Given the description of an element on the screen output the (x, y) to click on. 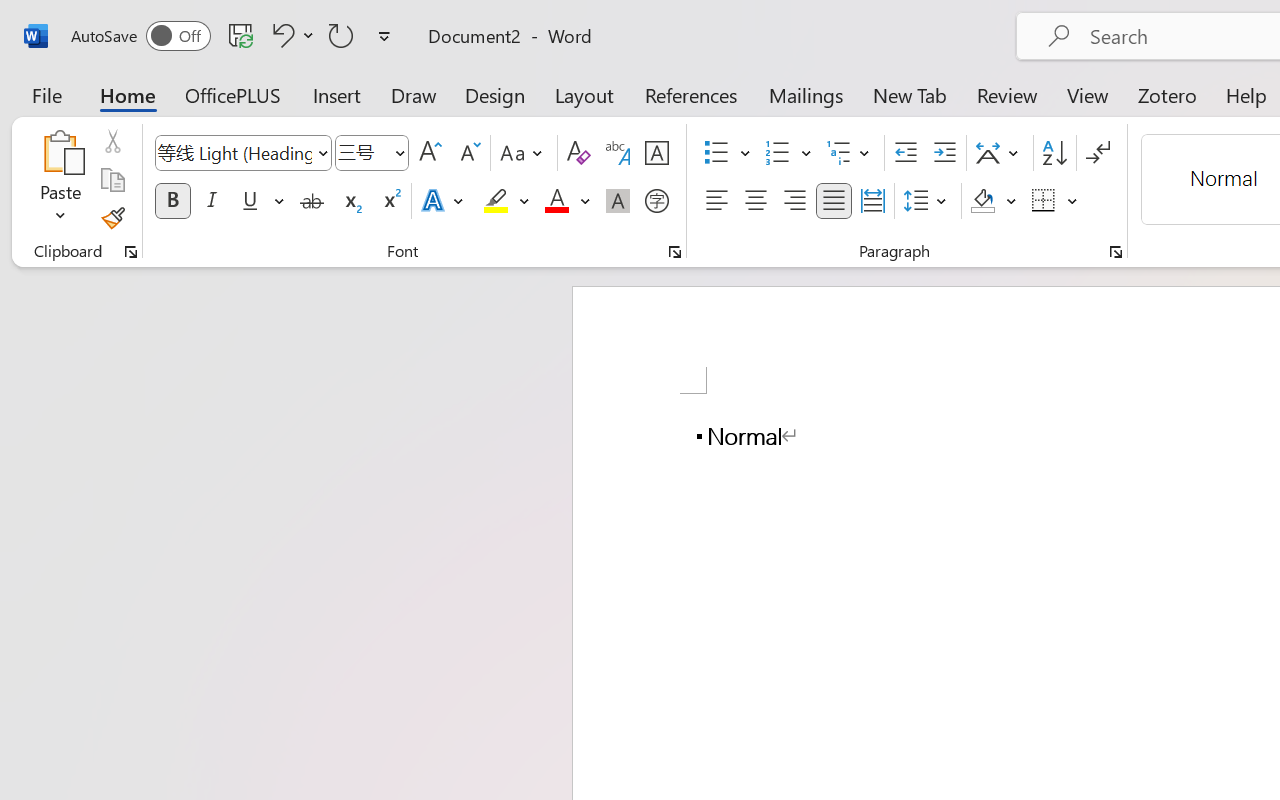
Home (127, 94)
Character Shading (618, 201)
Font Size (362, 152)
Paragraph... (1115, 252)
Shading RGB(0, 0, 0) (982, 201)
Font... (675, 252)
Align Right (794, 201)
Decrease Indent (906, 153)
New Tab (909, 94)
Undo Typing (290, 35)
Increase Indent (944, 153)
Asian Layout (1000, 153)
Underline (250, 201)
Line and Paragraph Spacing (927, 201)
